Given the description of an element on the screen output the (x, y) to click on. 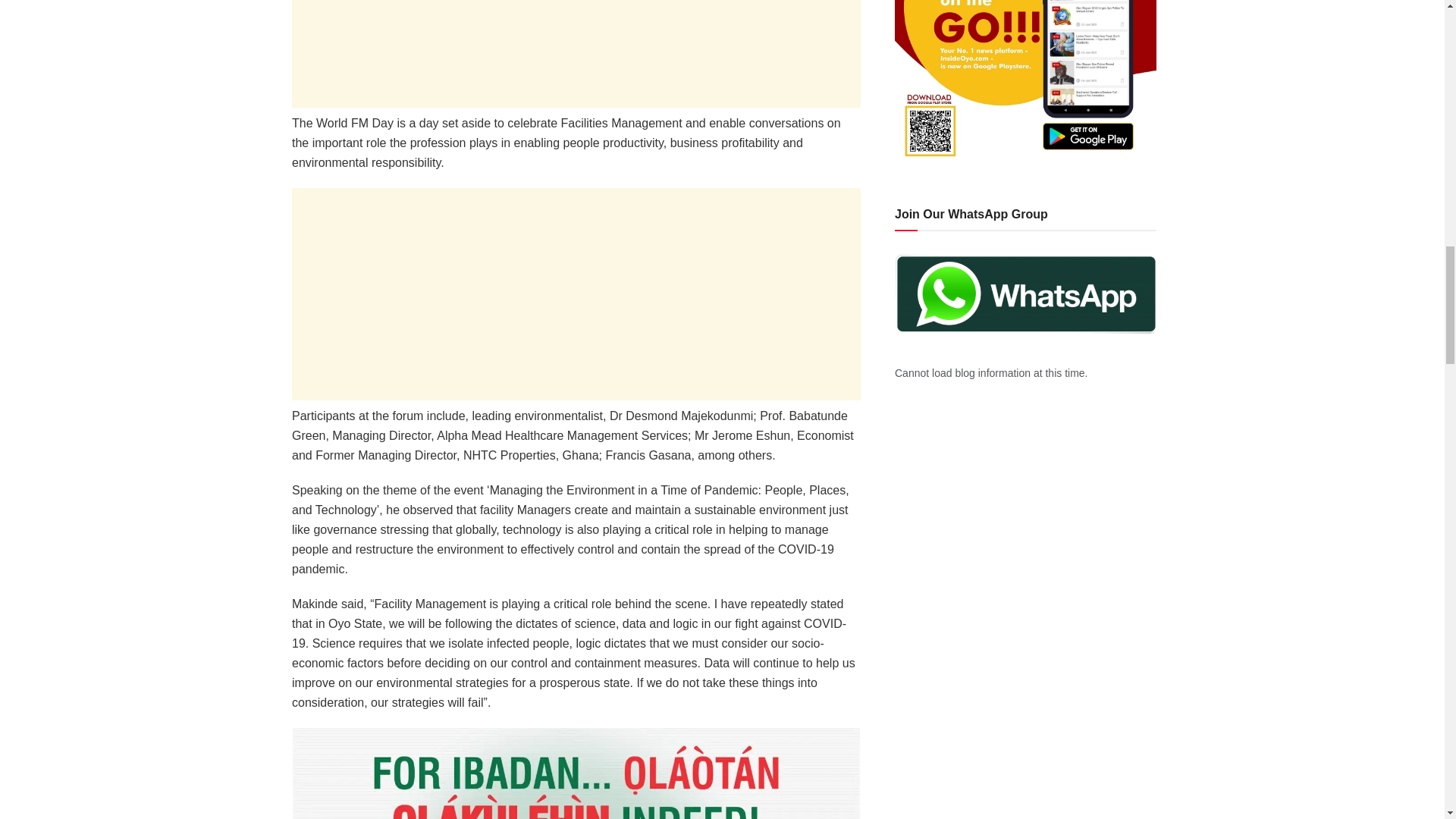
Advertisement (576, 53)
Advertisement (576, 294)
